Given the description of an element on the screen output the (x, y) to click on. 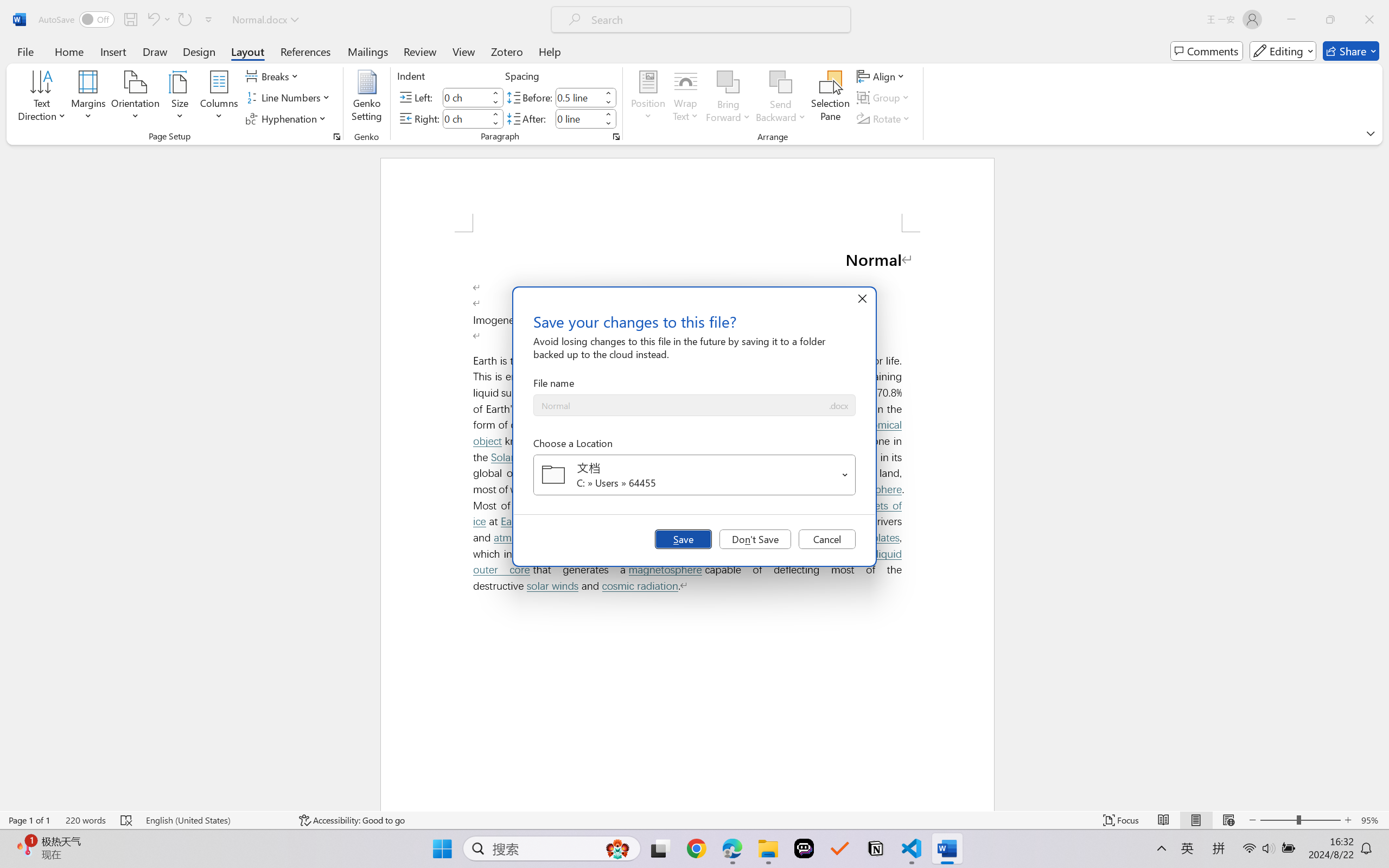
Cancel (826, 538)
Don't Save (755, 538)
Bring Forward (728, 81)
Send Backward (781, 81)
Page Setup... (336, 136)
Choose a Location (694, 474)
Breaks (273, 75)
More (608, 113)
Less (608, 123)
Position (647, 97)
